Given the description of an element on the screen output the (x, y) to click on. 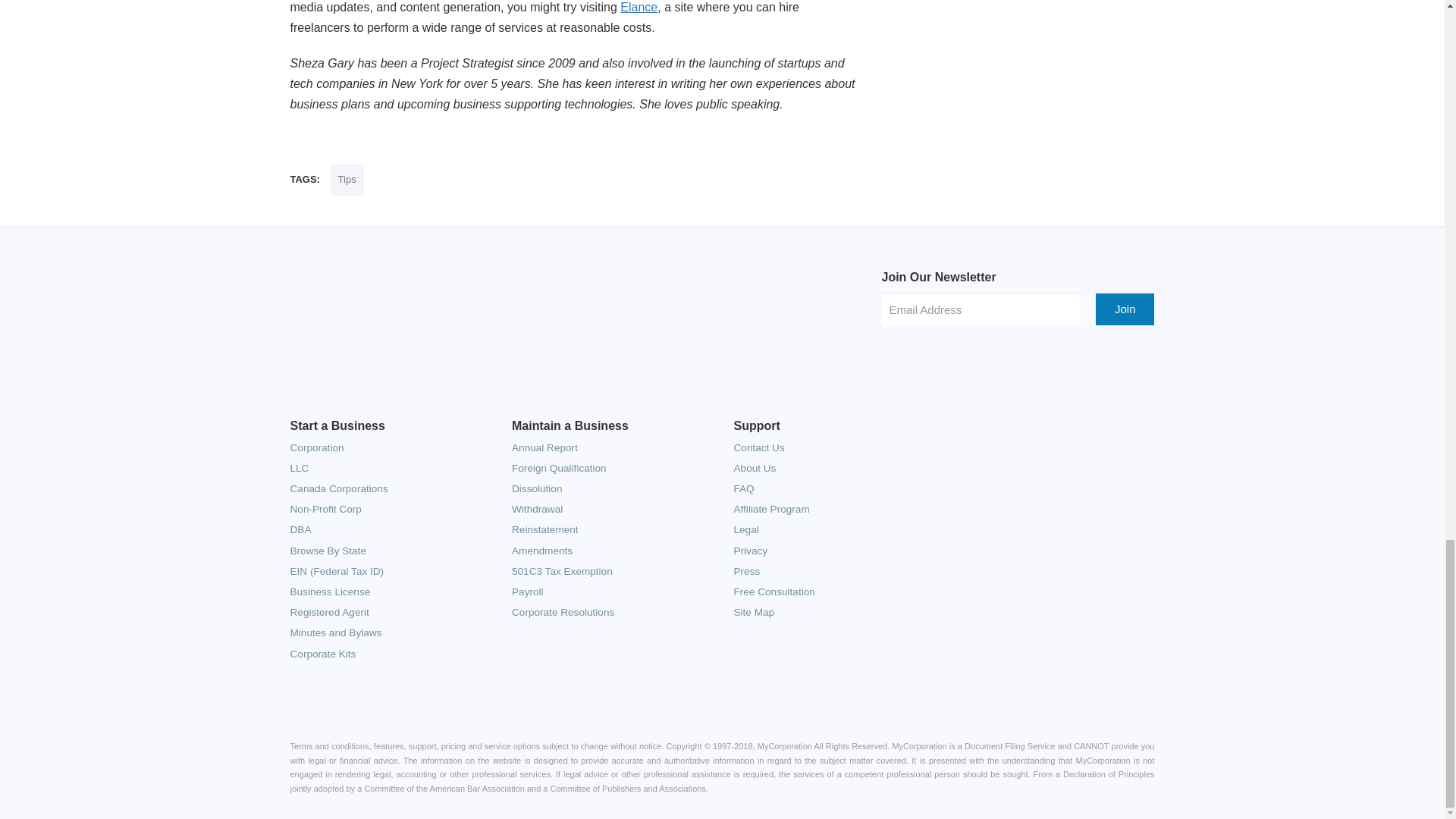
Join (1125, 308)
